Given the description of an element on the screen output the (x, y) to click on. 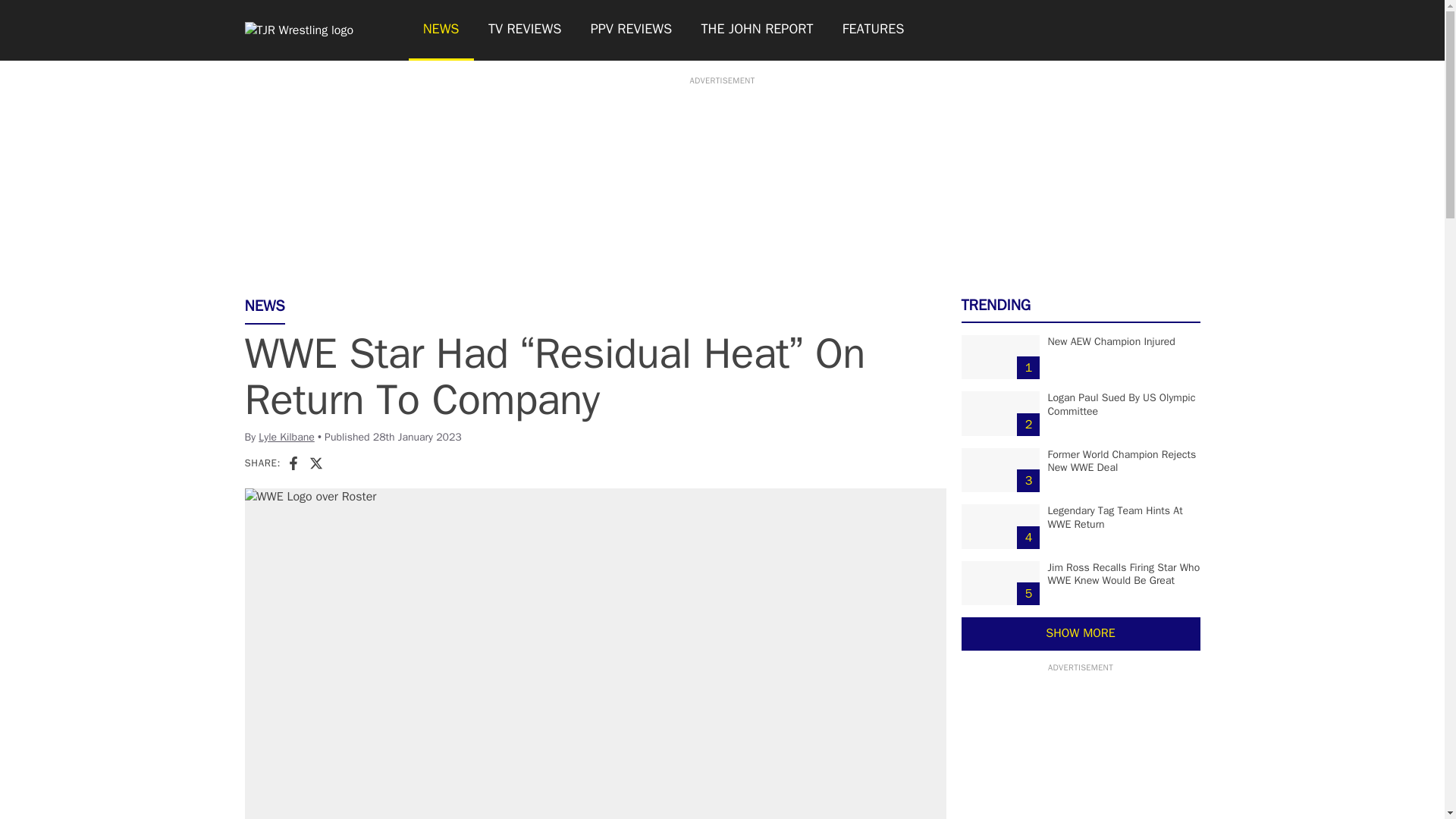
Facebook (292, 463)
Facebook (292, 462)
PPV REVIEWS (631, 30)
NEWS (440, 30)
TV REVIEWS (525, 30)
X (315, 462)
X (315, 463)
Lyle Kilbane (286, 436)
THE JOHN REPORT (756, 30)
FEATURES (873, 30)
